Given the description of an element on the screen output the (x, y) to click on. 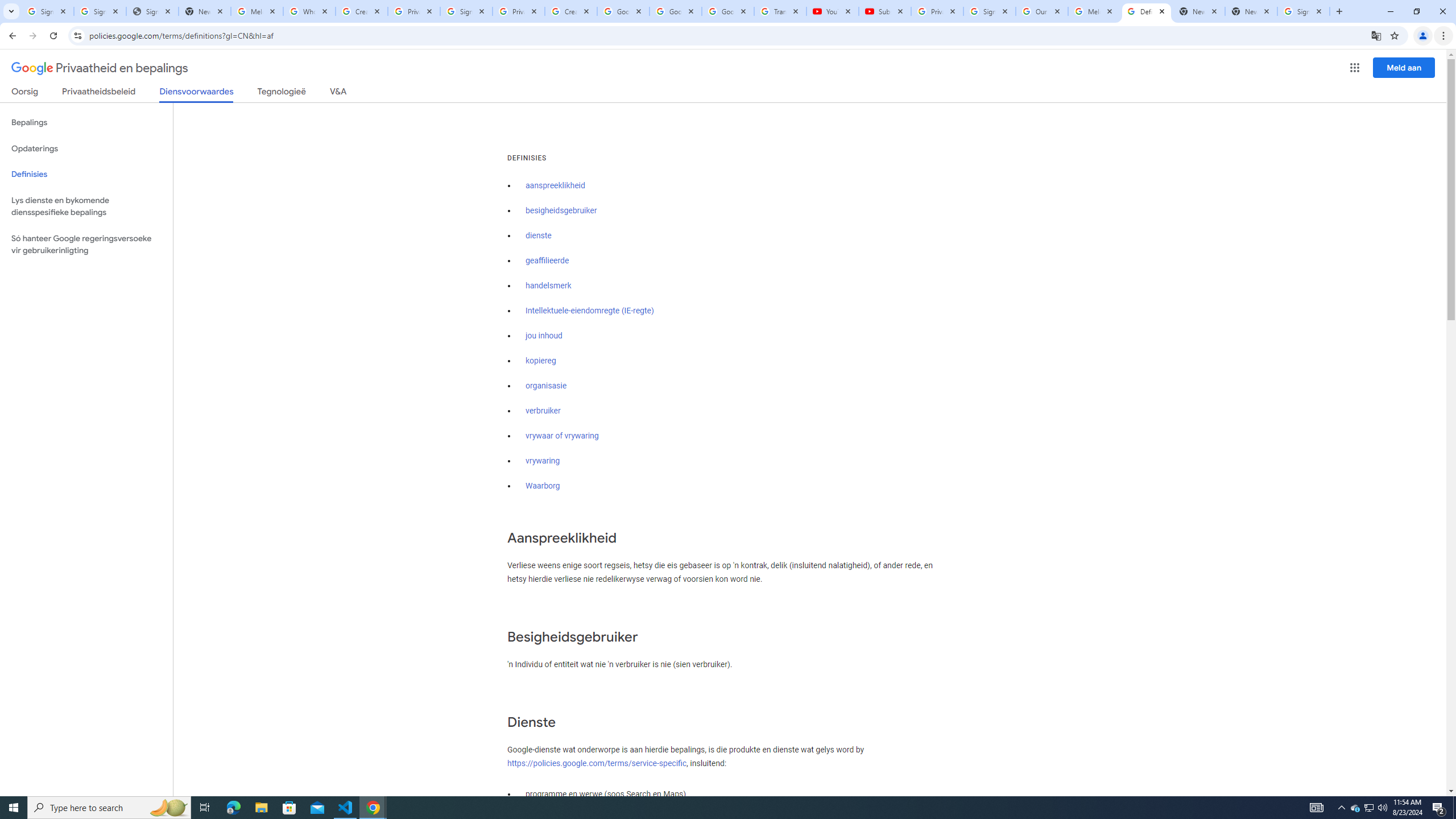
geaffilieerde (547, 260)
besigheidsgebruiker (560, 210)
Intellektuele-eiendomregte (IE-regte) (589, 311)
vrywaring (542, 461)
jou inhoud (543, 335)
Oorsig (25, 93)
Privaatheidsbeleid (98, 93)
Opdaterings (86, 148)
https://policies.google.com/terms/service-specific (596, 763)
